Given the description of an element on the screen output the (x, y) to click on. 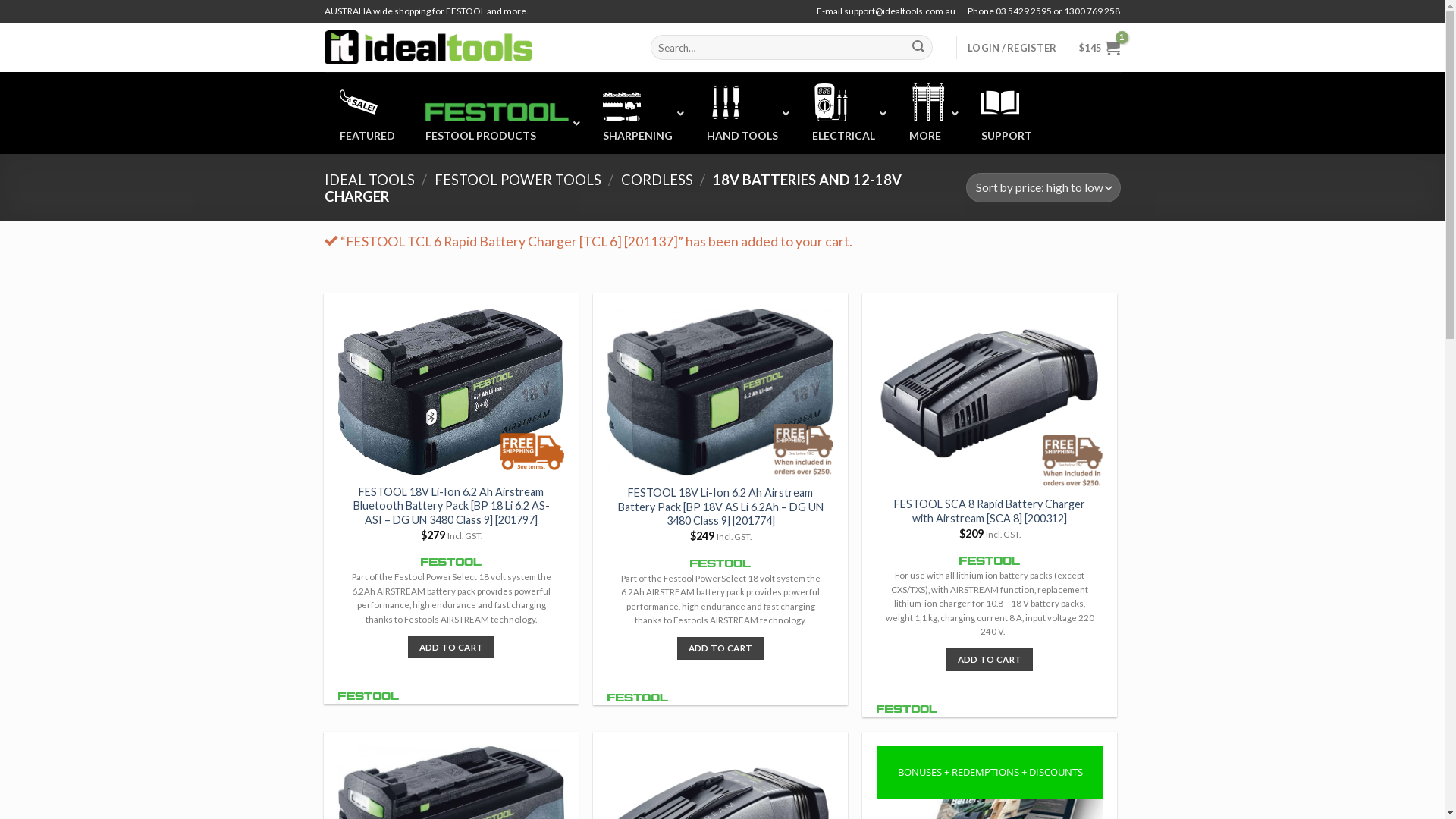
FESTOOL Element type: hover (906, 707)
MORE Element type: text (929, 112)
FESTOOL PRODUCTS Element type: text (497, 122)
ADD TO CART Element type: text (989, 659)
HAND TOOLS Element type: text (744, 112)
FESTOOL Element type: hover (450, 561)
FESTOOL Element type: hover (989, 559)
CORDLESS Element type: text (657, 179)
ADD TO CART Element type: text (450, 647)
IDEAL TOOLS Element type: text (369, 179)
FEATURED Element type: text (367, 112)
LOGIN / REGISTER Element type: text (1011, 46)
FESTOOL Element type: hover (637, 696)
FESTOOL Element type: hover (720, 562)
ADD TO CART Element type: text (720, 648)
FESTOOL POWER TOOLS Element type: text (517, 179)
Search Element type: text (918, 47)
SHARPENING Element type: text (638, 112)
$145 Element type: text (1099, 46)
ELECTRICAL Element type: text (844, 112)
FESTOOL Element type: hover (368, 694)
SUPPORT Element type: text (1006, 112)
